Given the description of an element on the screen output the (x, y) to click on. 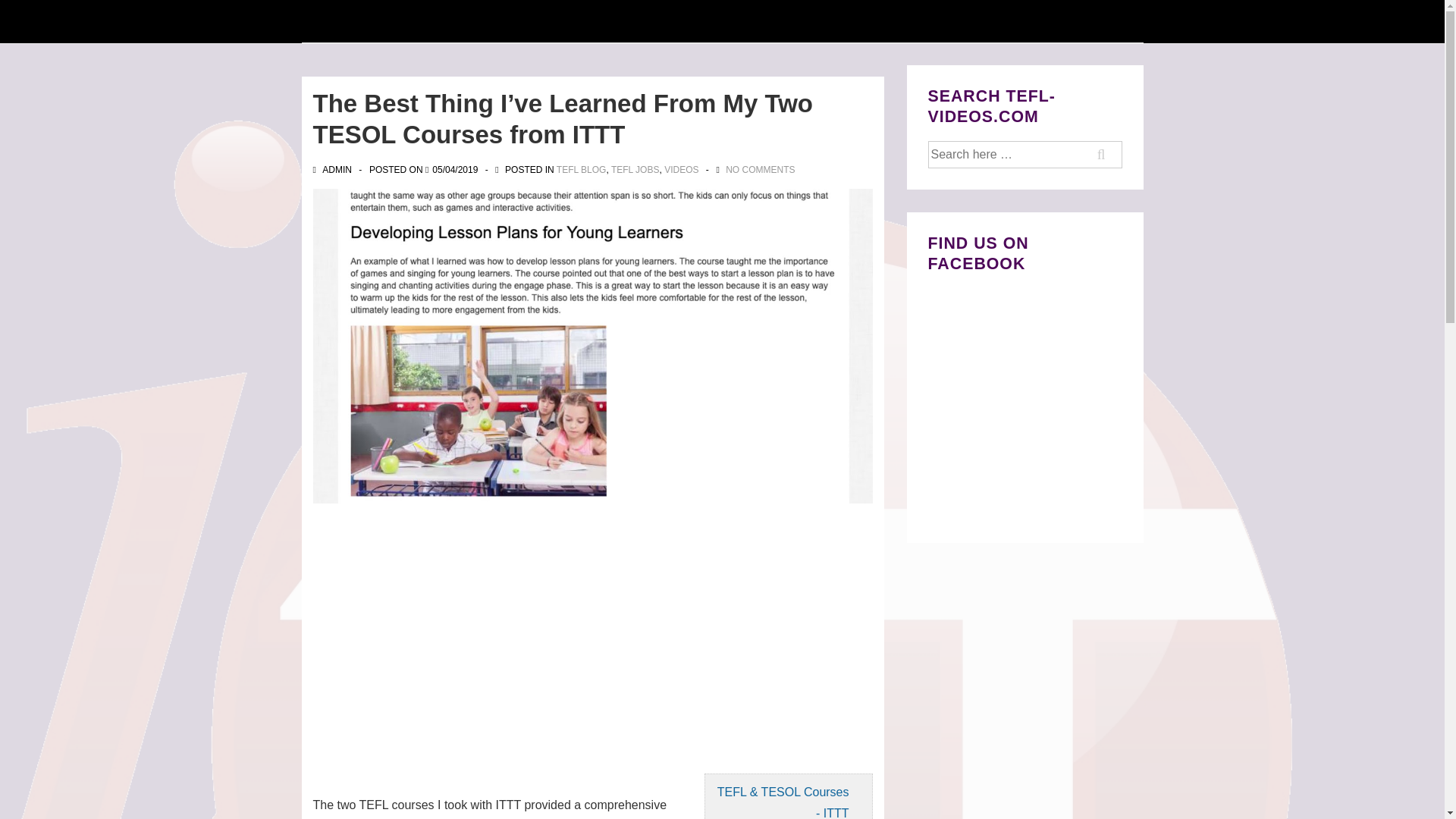
YouTube video player (504, 635)
View all posts by admin (333, 168)
ADMIN (333, 168)
TEFL BLOG (581, 168)
VIDEOS (680, 168)
TEFL JOBS (635, 168)
NO COMMENTS (759, 168)
